Given the description of an element on the screen output the (x, y) to click on. 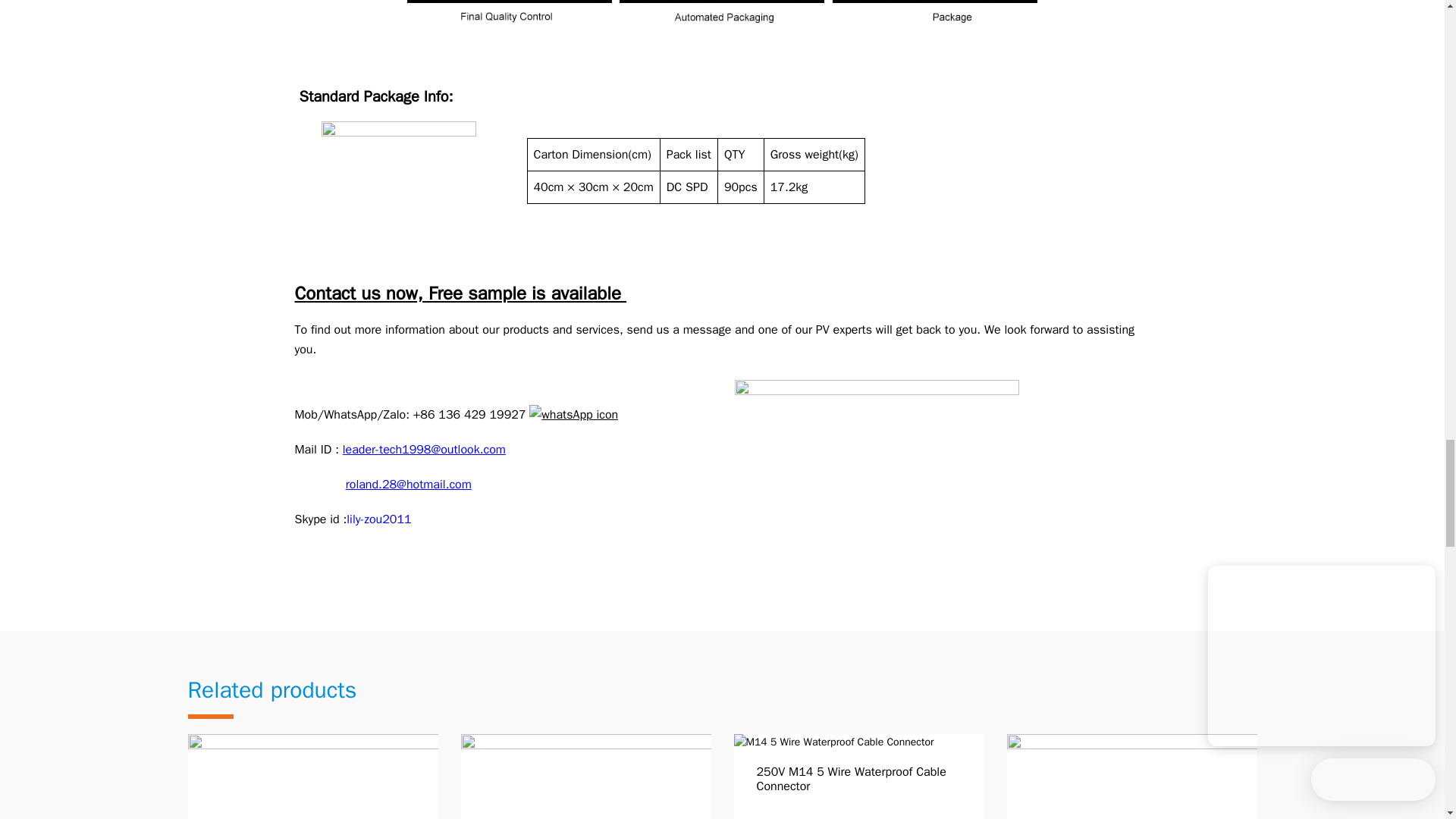
Tyco Solarlok Connectors Solar Panels In Series Or Parallel (1132, 776)
M12 Electrical Connector Waterproof Solar Connector (312, 776)
250V M14 5 Wire Waterproof Cable Connector (858, 776)
Solar Cable PV Solar Panel Cable Wire Stripper Tool (586, 776)
